Given the description of an element on the screen output the (x, y) to click on. 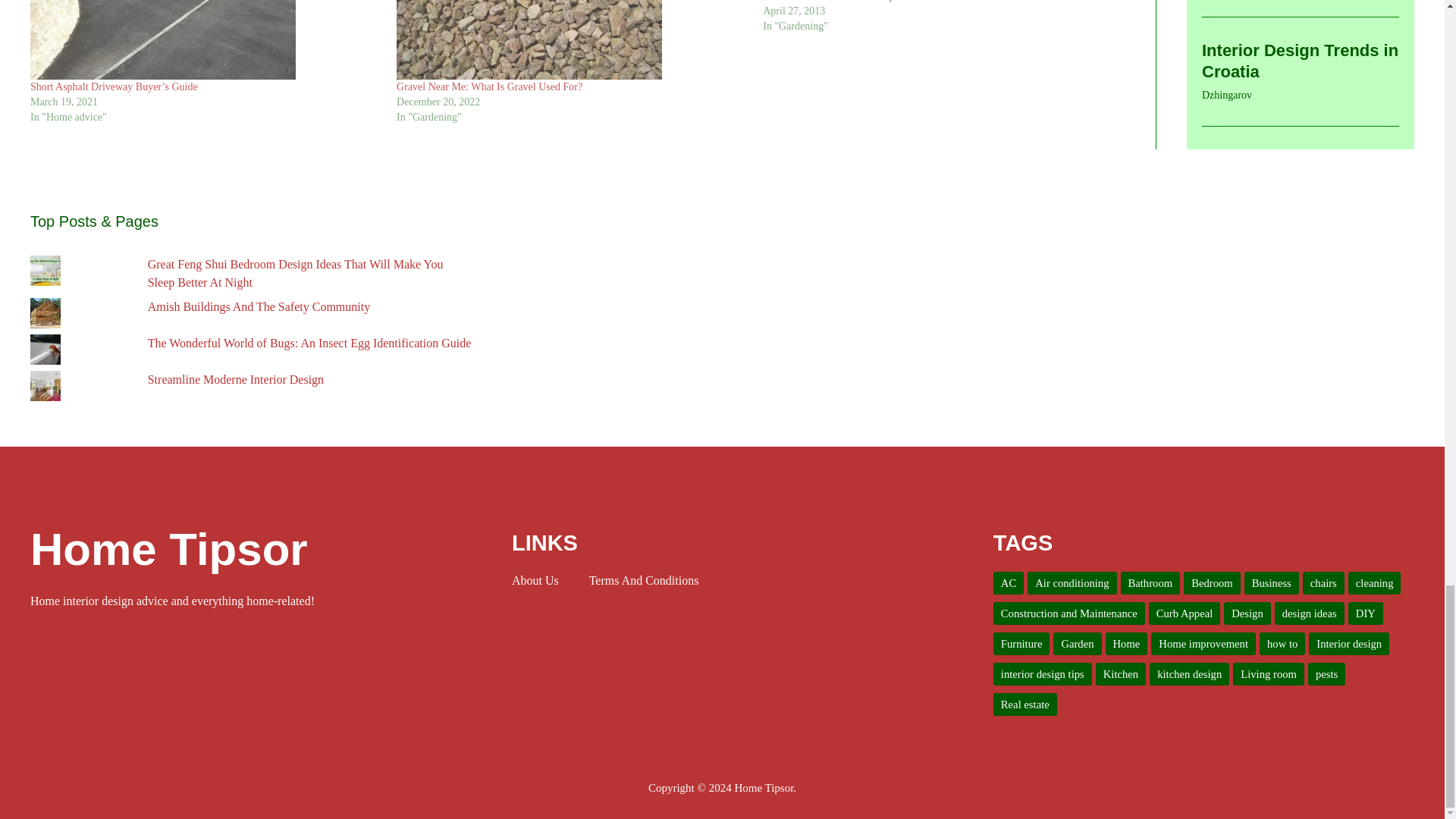
Gravel Near Me: What Is Gravel Used For? (489, 86)
What Decorative Concrete Can Do For Your Garden (945, 17)
Gravel Near Me: What Is Gravel Used For? (489, 86)
Gravel Near Me: What Is Gravel Used For? (572, 39)
